Given the description of an element on the screen output the (x, y) to click on. 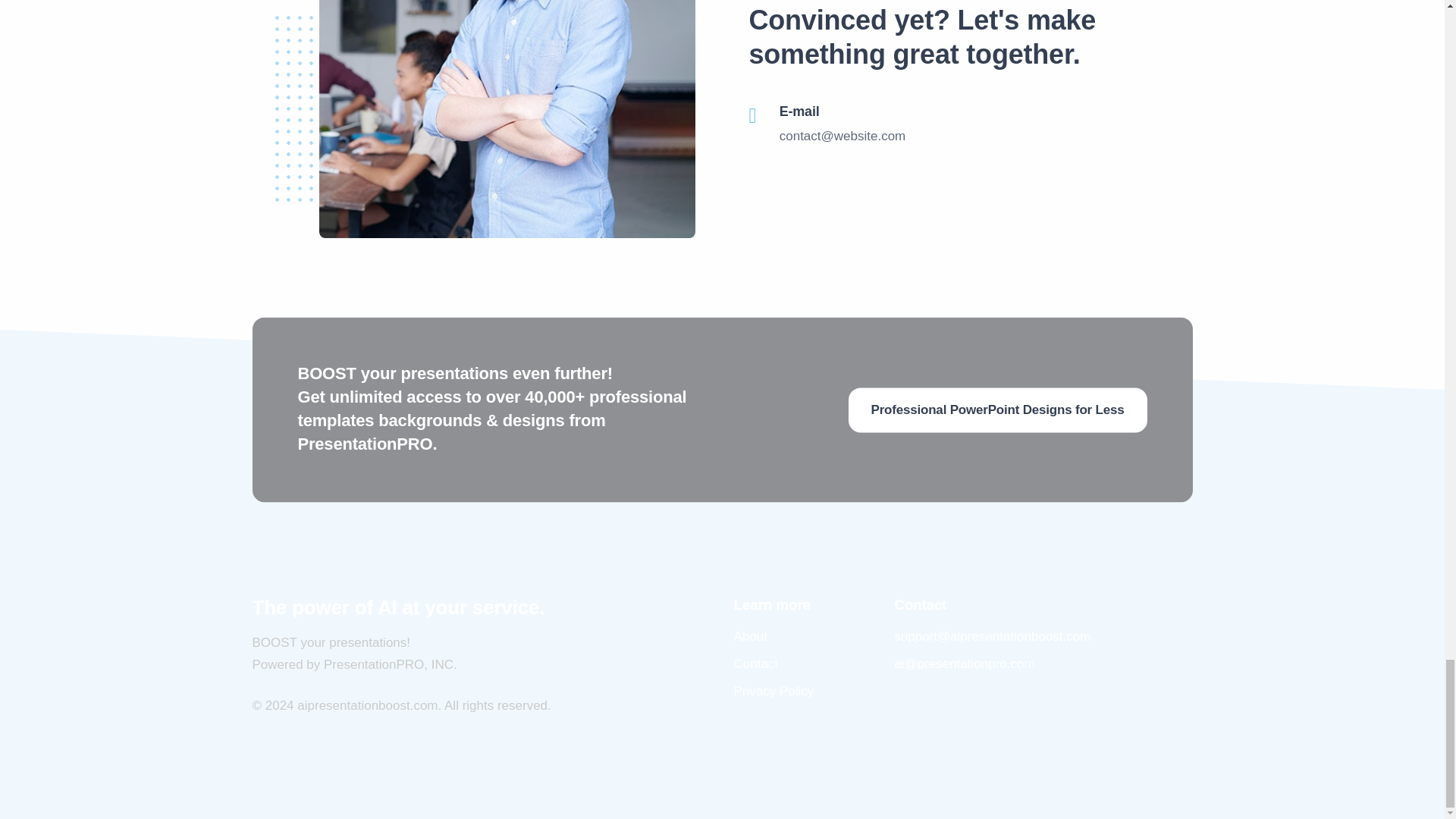
About (750, 636)
Privacy Policy (773, 690)
Contact (755, 663)
Professional PowerPoint Designs for Less (997, 409)
